Given the description of an element on the screen output the (x, y) to click on. 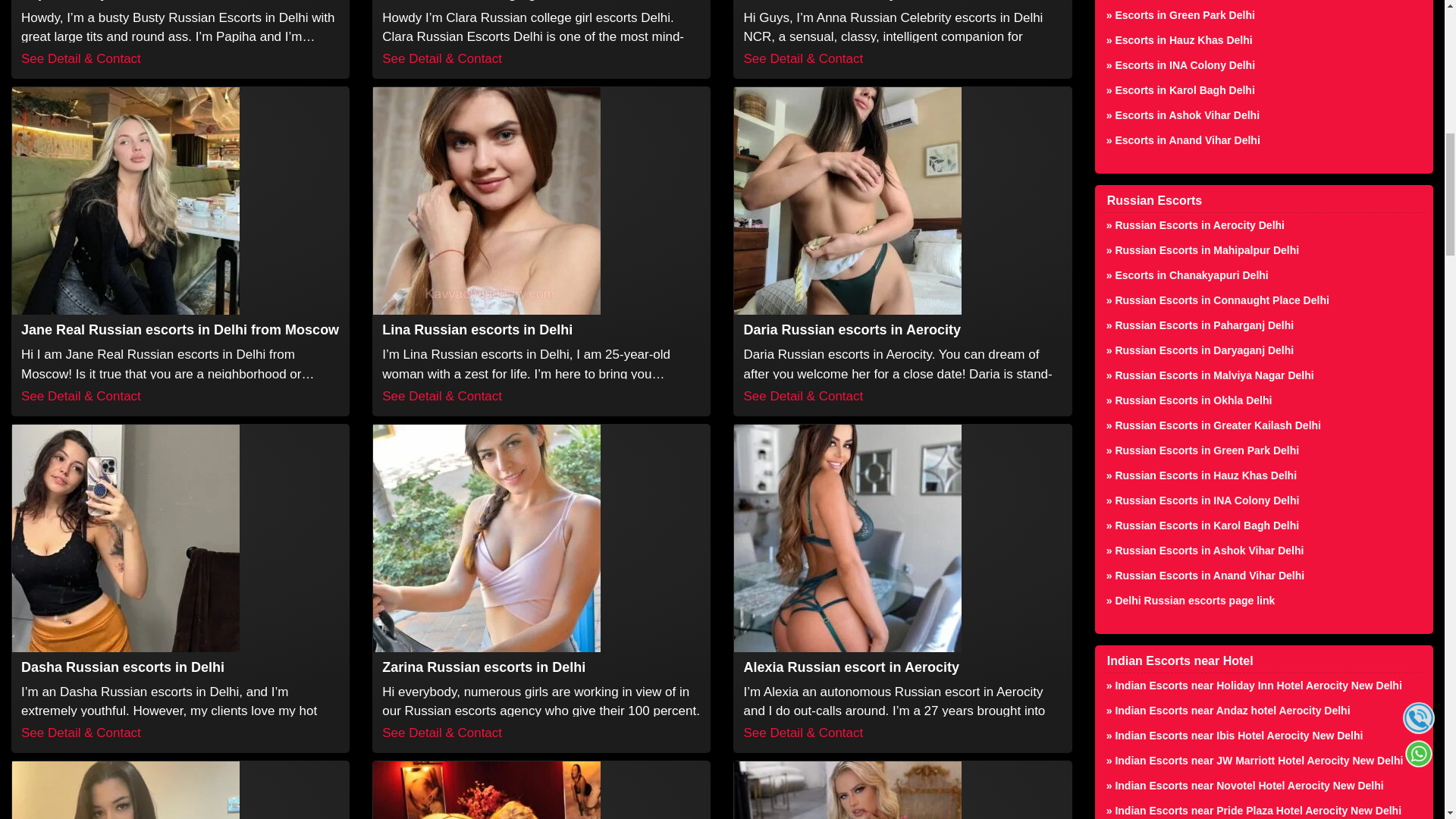
Dasha Russian escorts in Delhi (122, 667)
Papiha Busty Russian Escorts in Delhi (81, 58)
Alexia Russian escort in Aerocity (850, 667)
Jane Real Russian escorts in Delhi from Moscow (180, 329)
Clara Russian college girl escorts Delhi (441, 58)
Lina Russian escorts in Delhi (476, 329)
Daria Russian escorts in Aerocity (850, 329)
Zarina Russian escorts in Delhi (483, 667)
